Given the description of an element on the screen output the (x, y) to click on. 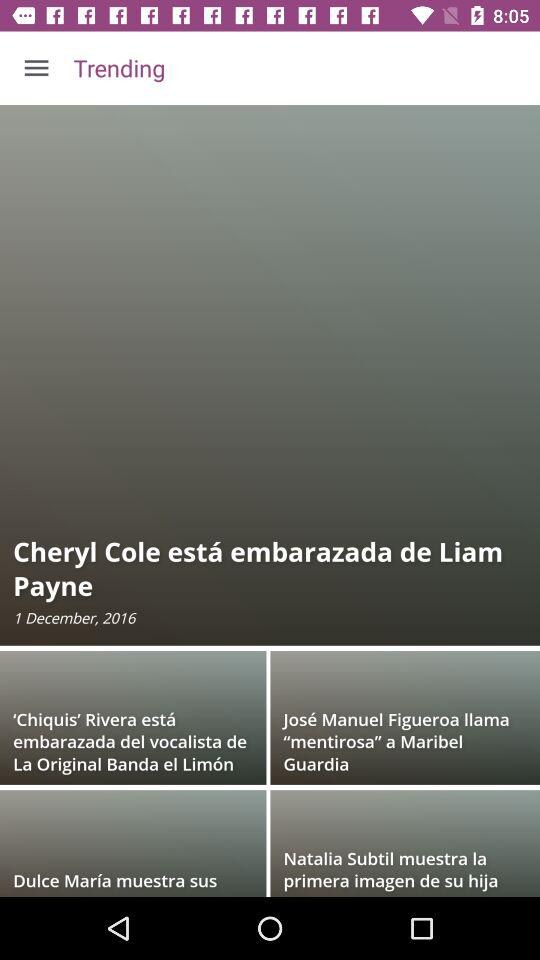
webpage view (270, 501)
